Given the description of an element on the screen output the (x, y) to click on. 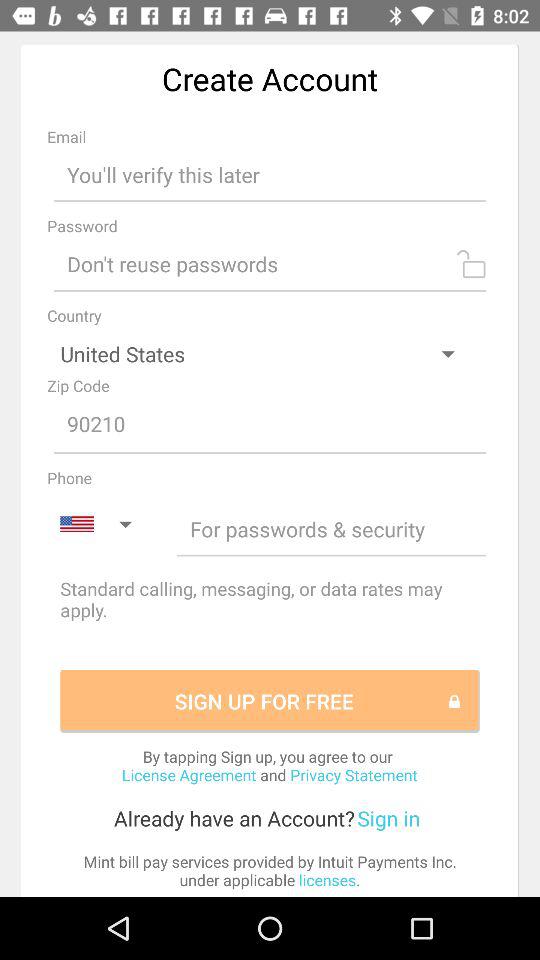
enter phone number (331, 528)
